Given the description of an element on the screen output the (x, y) to click on. 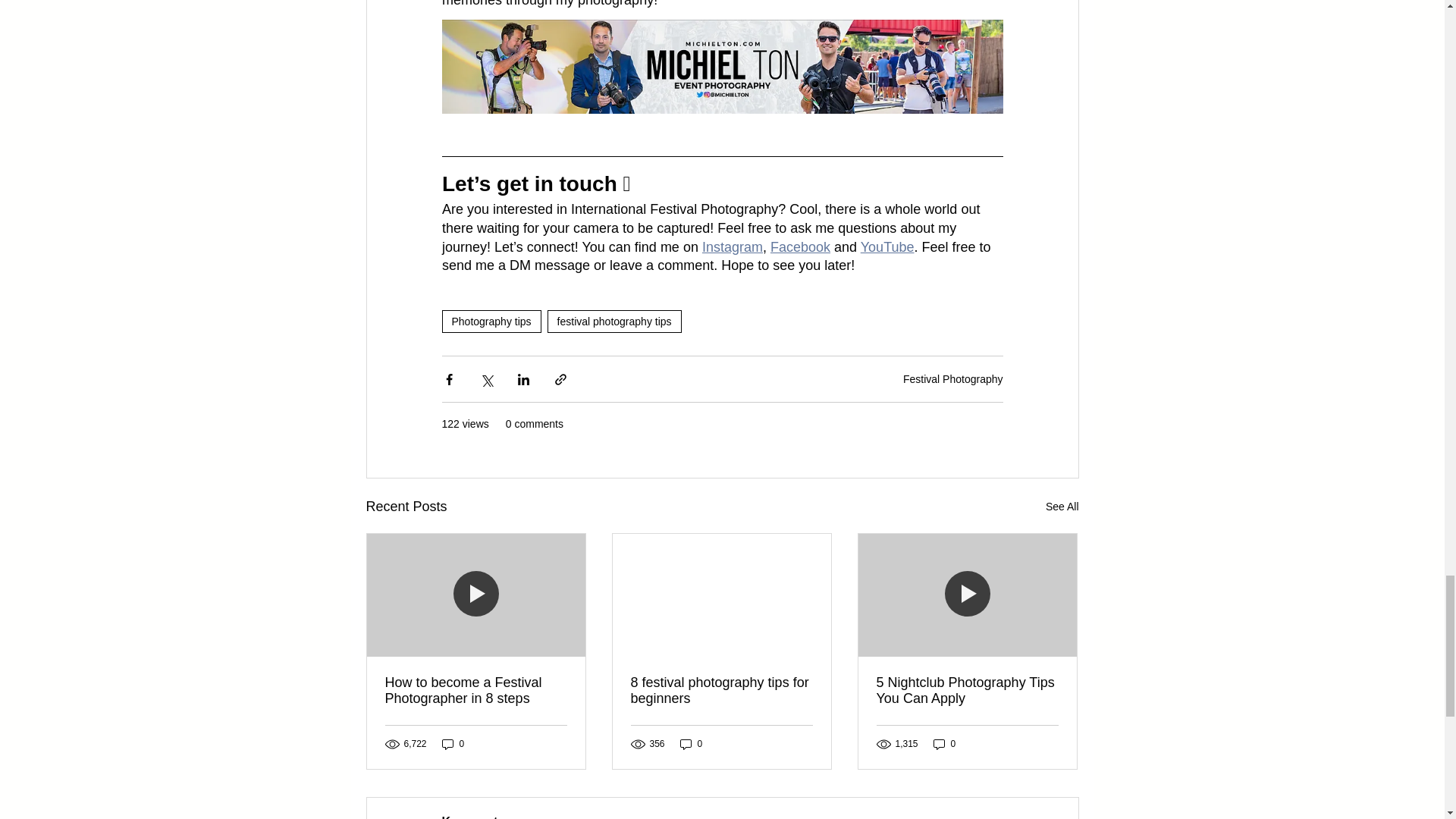
0 (944, 744)
See All (1061, 506)
0 (691, 744)
festival photography tips (614, 321)
Instagram (731, 246)
How to become a Festival Photographer in 8 steps (476, 690)
0 (453, 744)
5 Nightclub Photography Tips You Can Apply (967, 690)
Facebook (799, 246)
Festival Photography (952, 378)
YouTube (887, 246)
8 festival photography tips for beginners (721, 690)
Photography tips (490, 321)
